Given the description of an element on the screen output the (x, y) to click on. 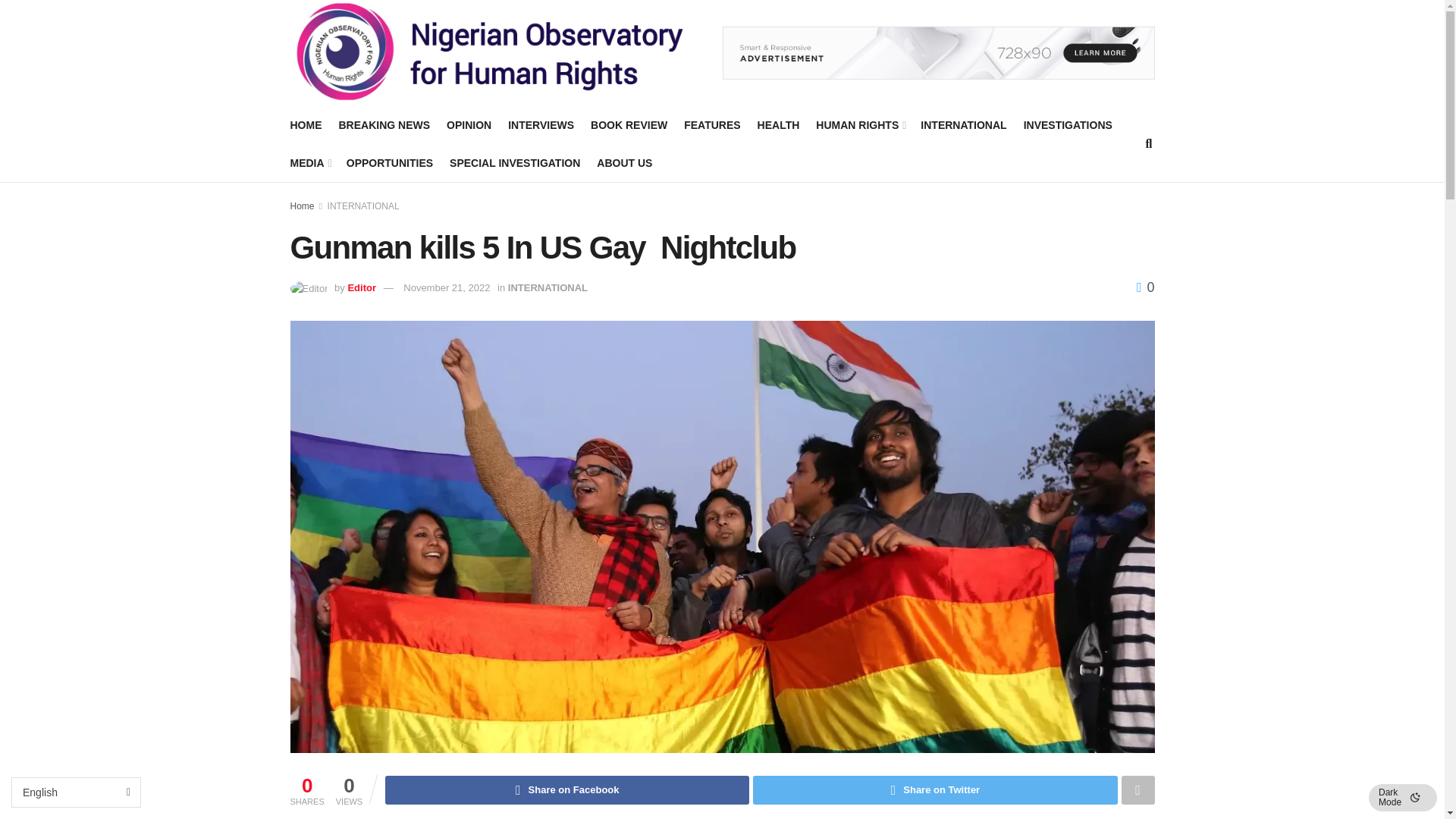
OPINION (469, 124)
HOME (305, 124)
HEALTH (778, 124)
INVESTIGATIONS (1067, 124)
MEDIA (309, 162)
INTERNATIONAL (963, 124)
BREAKING NEWS (383, 124)
BOOK REVIEW (628, 124)
FEATURES (711, 124)
INTERVIEWS (540, 124)
